Given the description of an element on the screen output the (x, y) to click on. 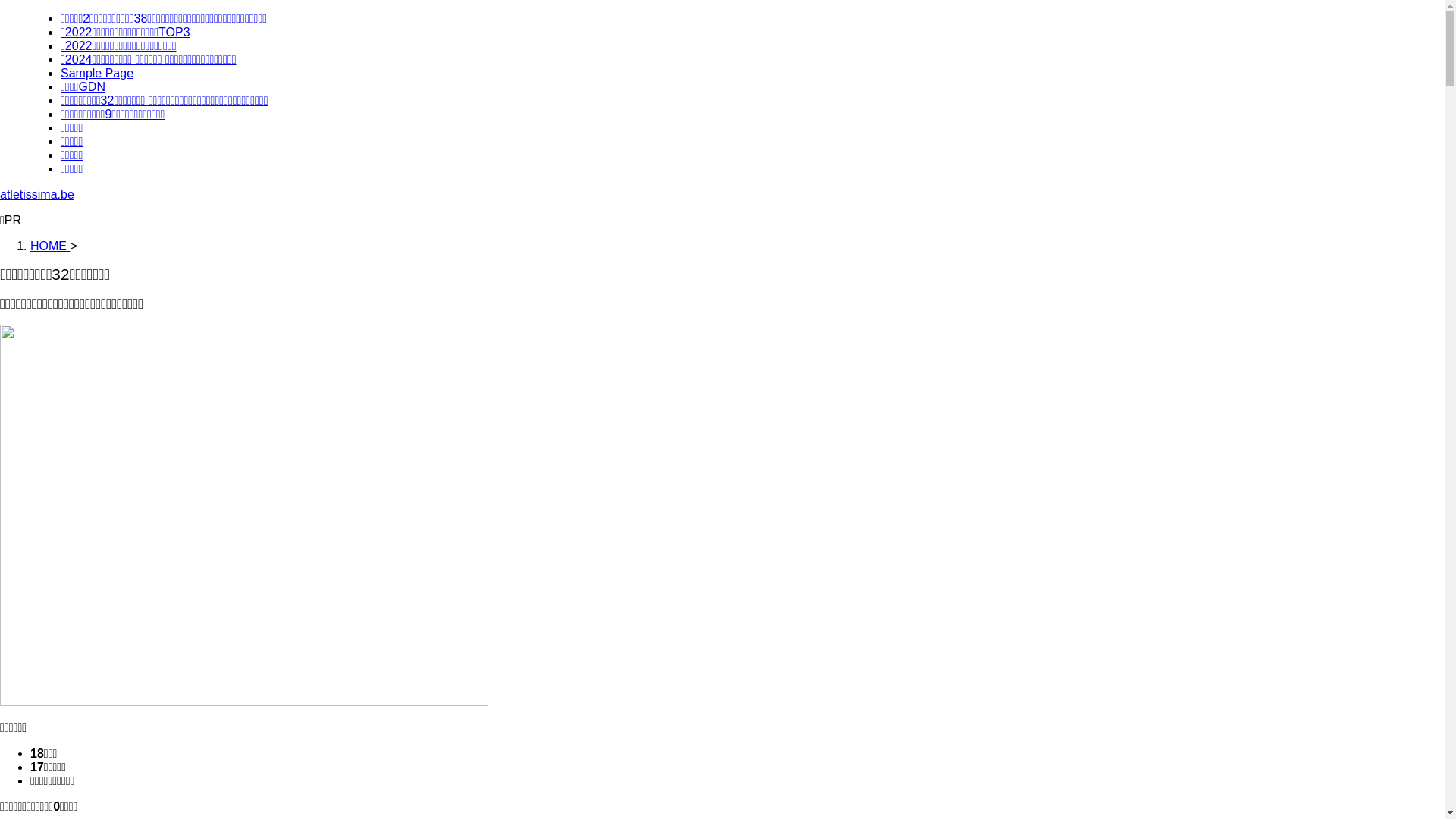
HOME Element type: text (49, 245)
Sample Page Element type: text (96, 72)
atletissima.be Element type: text (37, 194)
